Given the description of an element on the screen output the (x, y) to click on. 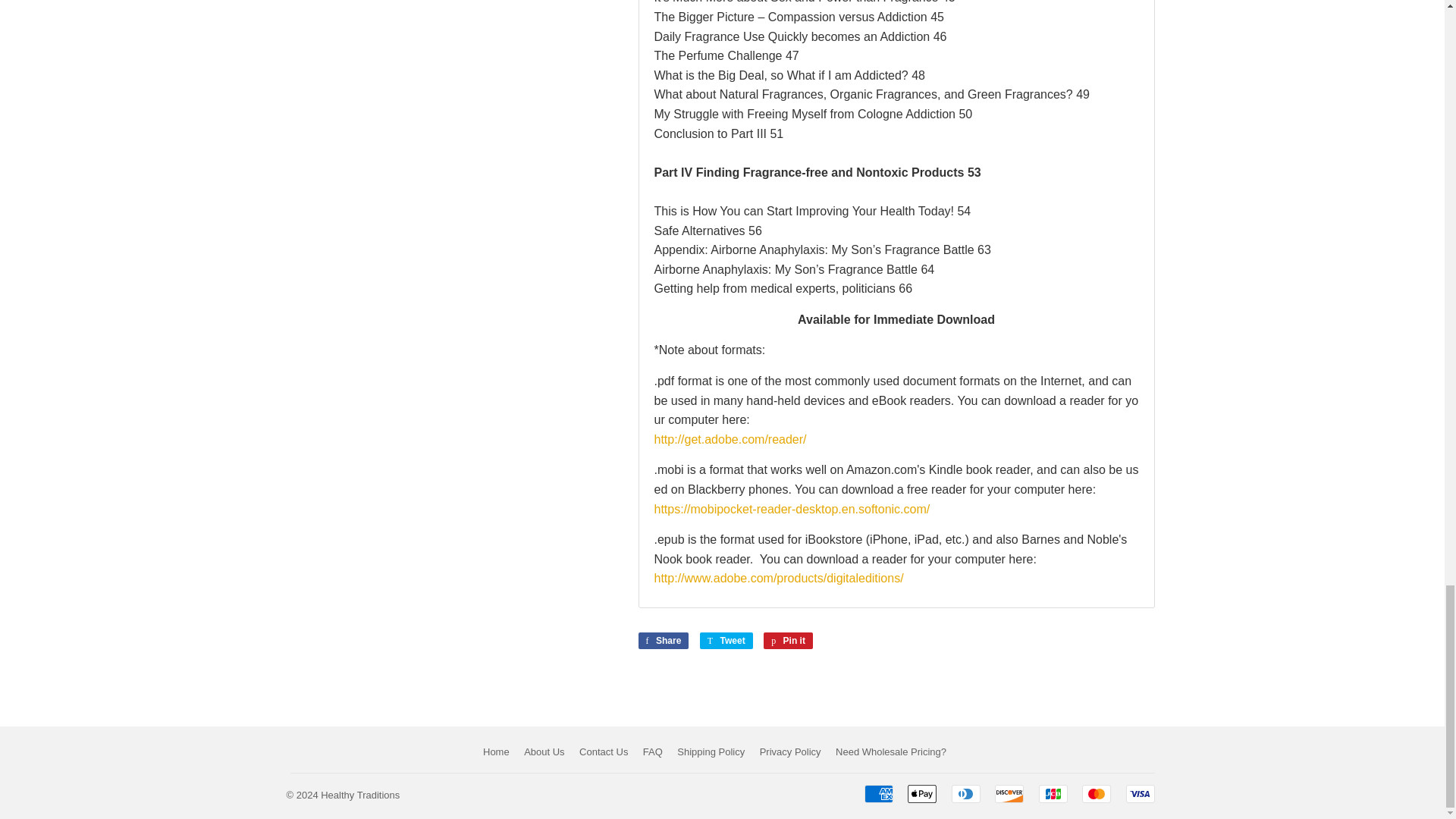
JCB (1053, 793)
Diners Club (965, 793)
American Express (878, 793)
Visa (1139, 793)
Apple Pay (921, 793)
Discover (1008, 793)
Mastercard (1095, 793)
